Given the description of an element on the screen output the (x, y) to click on. 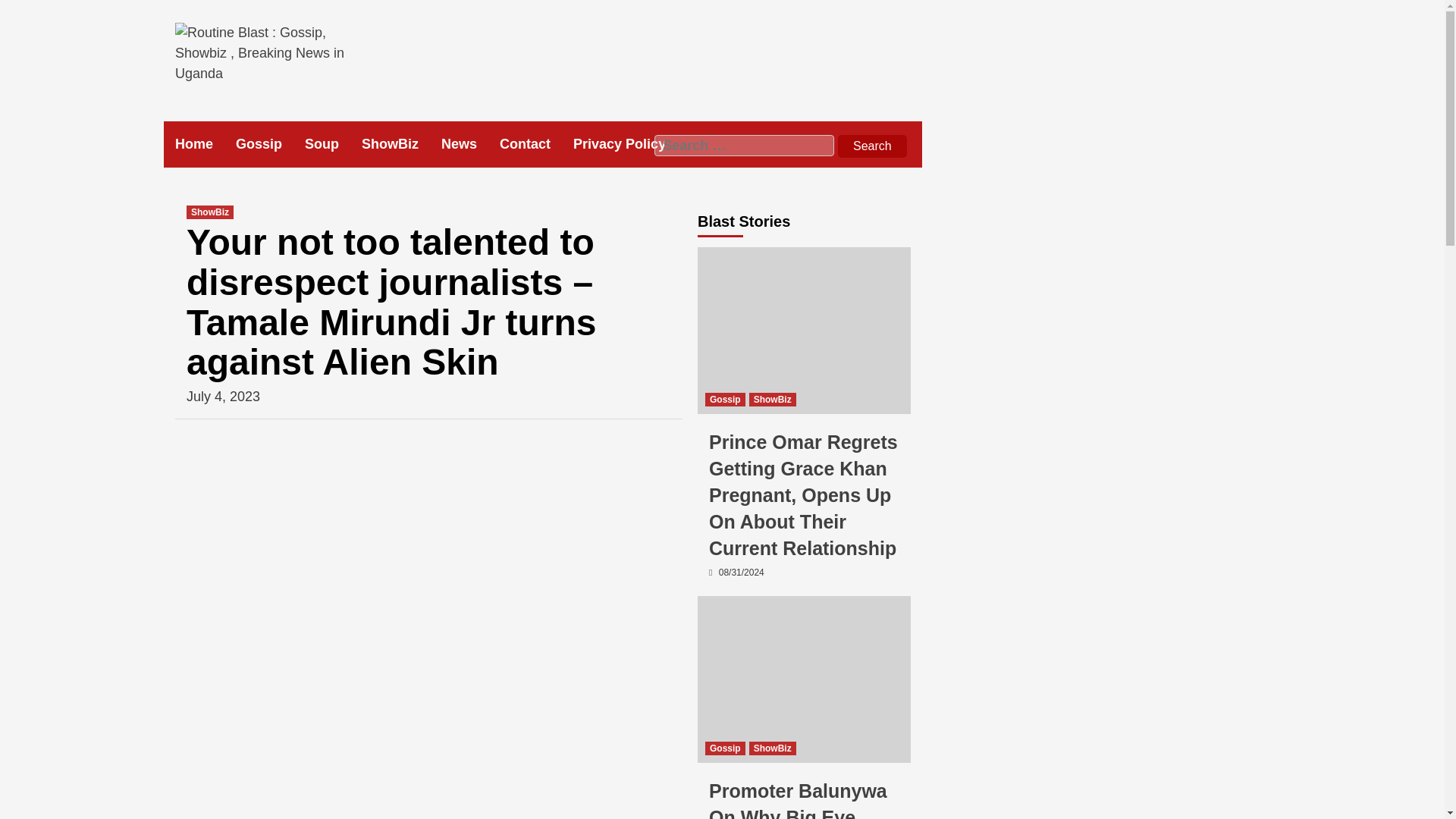
Search (872, 146)
Search (872, 146)
Privacy Policy (630, 144)
Home (204, 144)
ShowBiz (209, 212)
Gossip (269, 144)
Gossip (724, 399)
Gossip (724, 748)
ShowBiz (401, 144)
ShowBiz (772, 748)
